Given the description of an element on the screen output the (x, y) to click on. 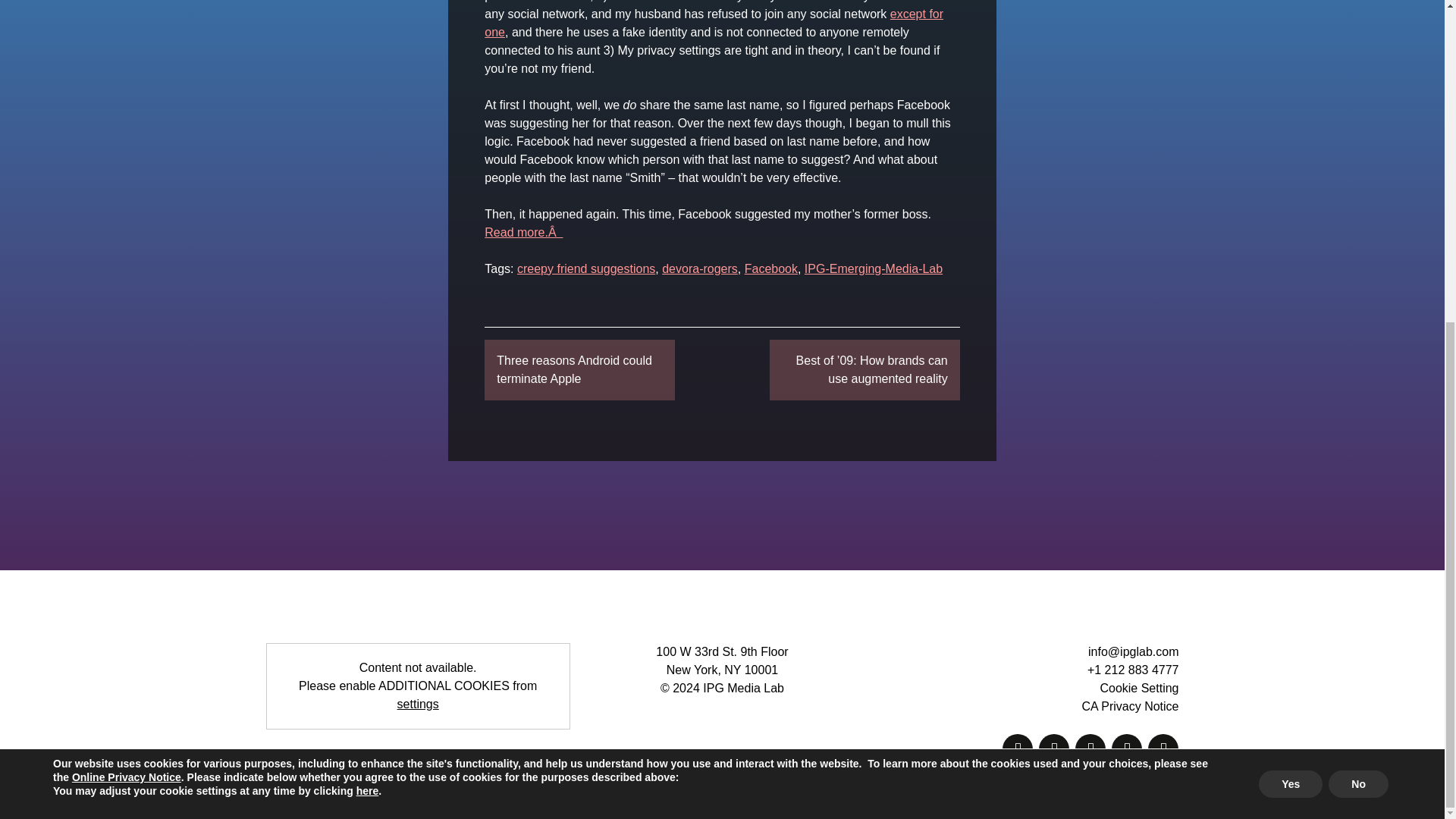
IPG-Emerging-Media-Lab (873, 268)
CA Privacy Notice (1129, 706)
creepy friend suggestions (585, 268)
Yes (1290, 257)
Online Privacy Notice (125, 251)
Twitter (1090, 748)
devora-rogers (700, 268)
No (1358, 257)
Cookie Setting (1138, 687)
except for one (713, 22)
LinkedIn (1162, 748)
Facebook (770, 268)
Three reasons Android could terminate Apple (579, 369)
Instagram (1126, 748)
Facebook (1053, 748)
